Given the description of an element on the screen output the (x, y) to click on. 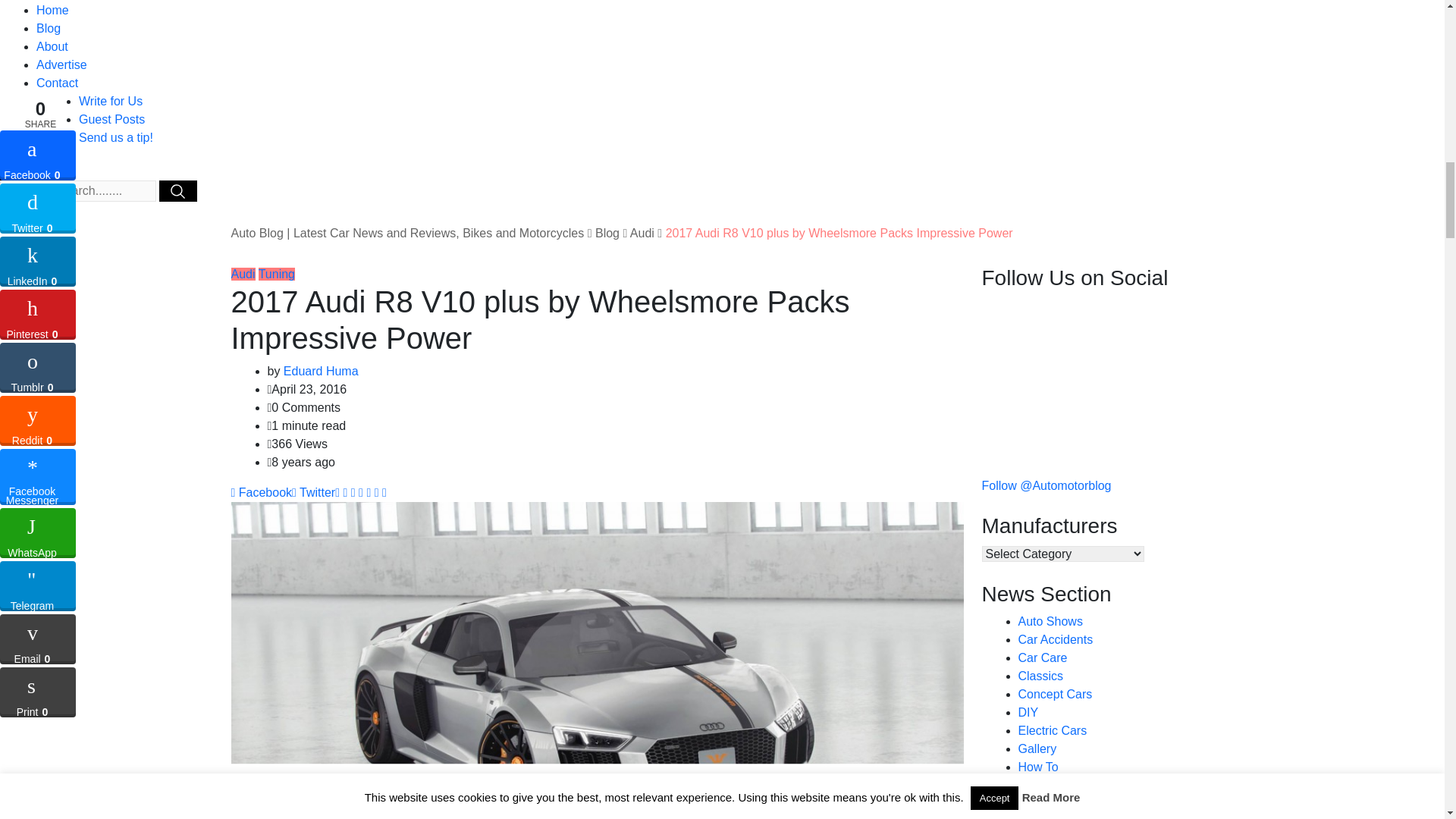
Write for Us (110, 101)
Advertise (61, 64)
Blog (48, 28)
About (52, 46)
Posts by Eduard Huma (320, 370)
Go to the Audi Category archives. (641, 232)
Home (52, 10)
Go to Blog. (607, 232)
Contact (57, 82)
Guest Posts (111, 119)
